Given the description of an element on the screen output the (x, y) to click on. 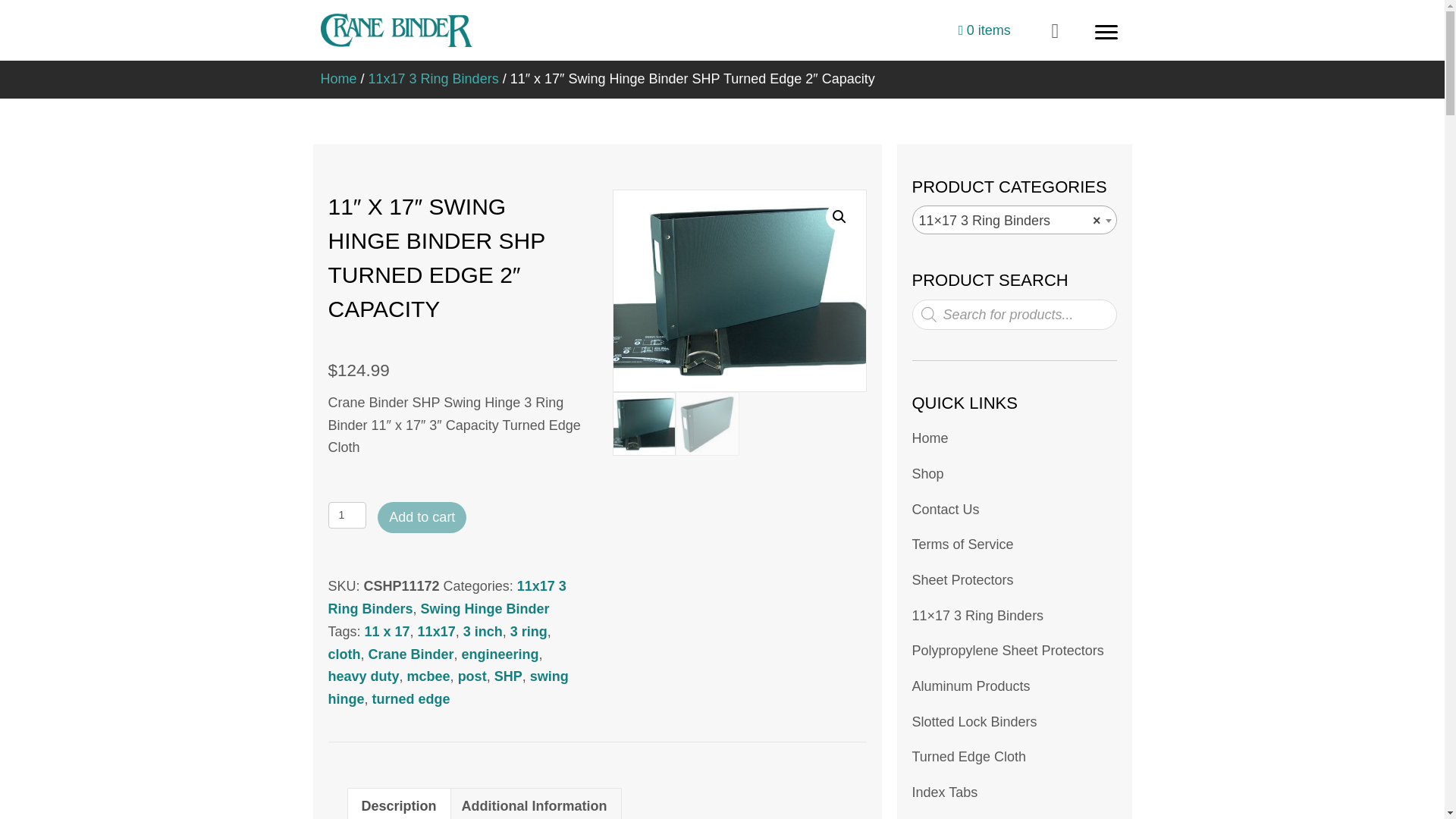
1 (346, 515)
11 x 17 (387, 631)
cloth (343, 654)
11x17 (436, 631)
Index Tabs (1013, 792)
Add to cart (421, 517)
Description (398, 803)
Sheet Protectors (1013, 580)
heavy duty (362, 676)
0 items (984, 29)
turned edge (410, 698)
11x17-Classic-II (739, 290)
Shop (1013, 474)
Home (1013, 438)
11x17 3 Ring Binders (446, 597)
